Given the description of an element on the screen output the (x, y) to click on. 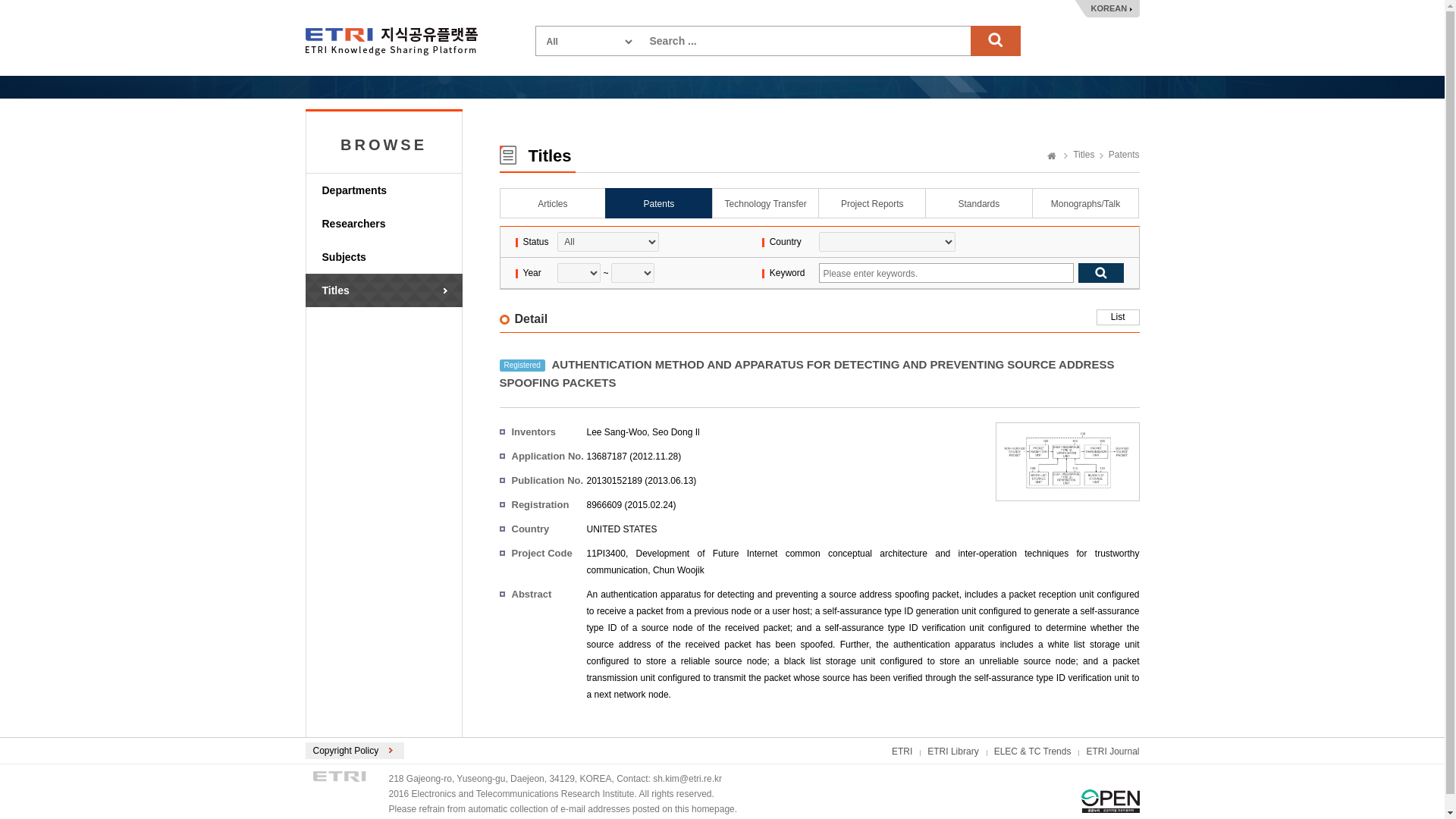
Standards (978, 203)
Subjects (391, 256)
Researchers (391, 223)
Technology Transfer (765, 203)
Titles (1079, 154)
Country (886, 241)
to (632, 272)
Titles (391, 290)
ETRI Journal (1112, 751)
search (995, 40)
